Given the description of an element on the screen output the (x, y) to click on. 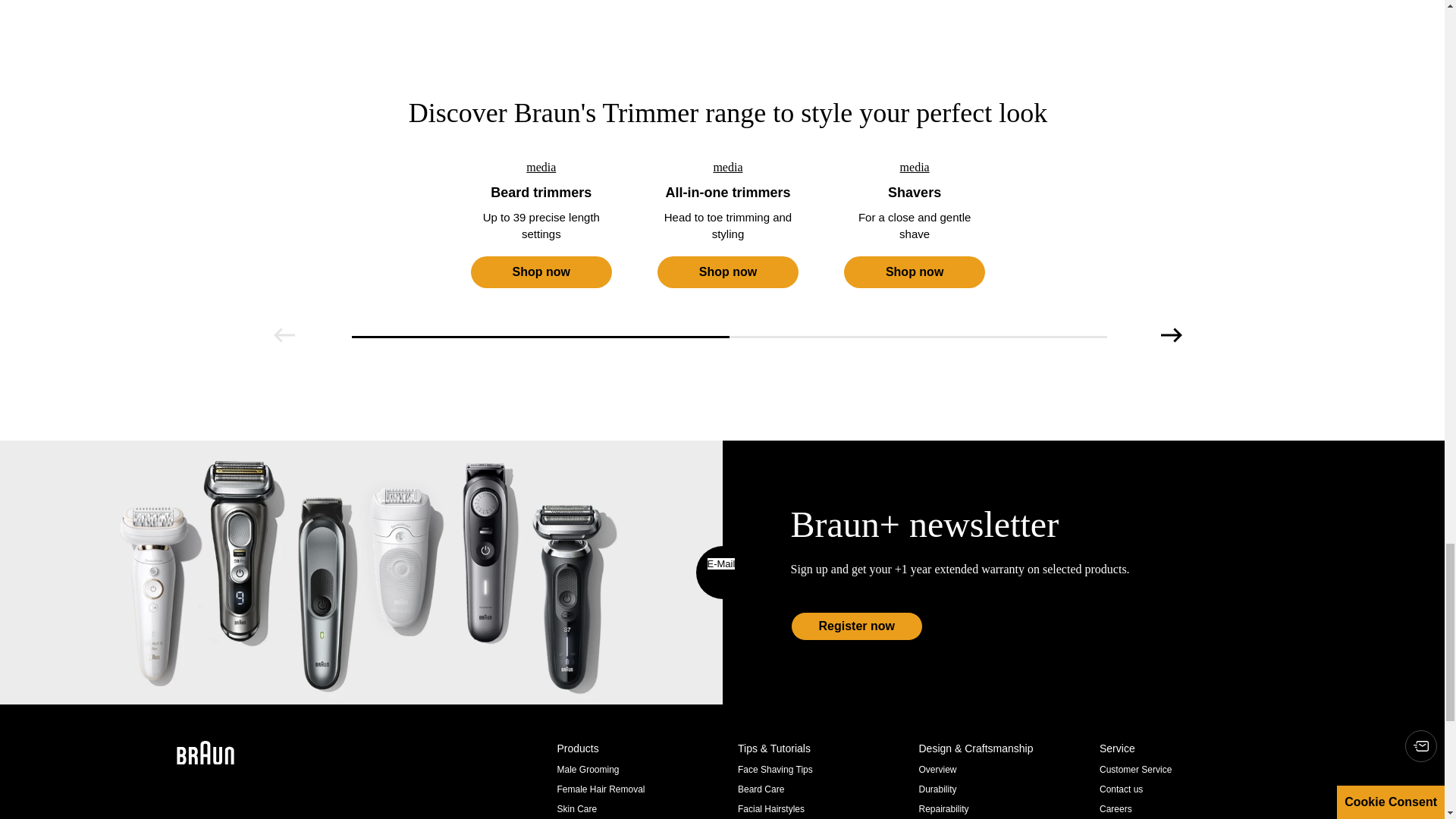
media (727, 167)
Shop now (540, 272)
Shop now (727, 272)
media (914, 167)
Shop now (540, 272)
Register now (855, 625)
Female Hair Removal (600, 788)
Products (640, 748)
All-in-One Trimmers  (727, 167)
Electric shavers (914, 167)
